Given the description of an element on the screen output the (x, y) to click on. 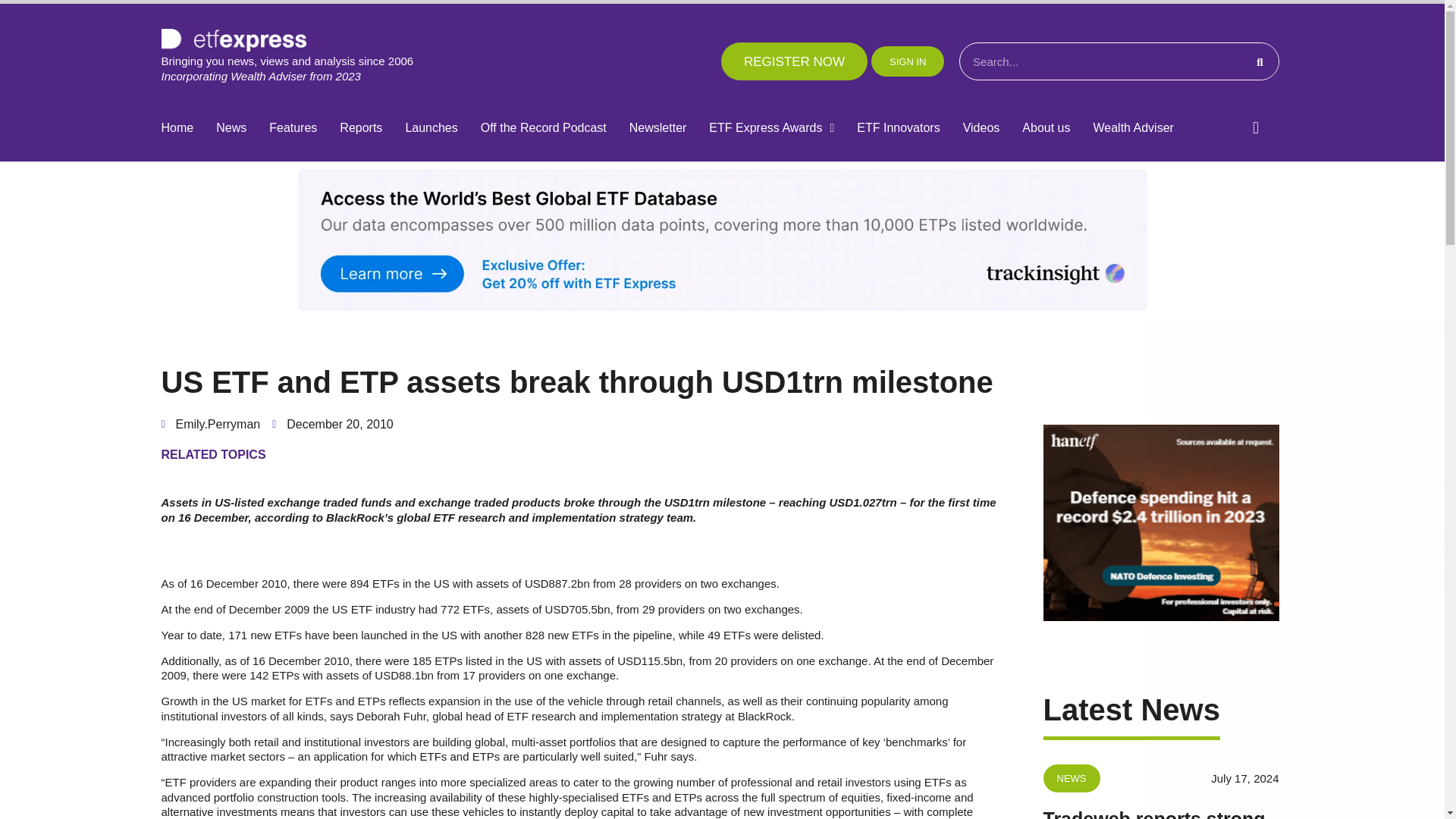
SIGN IN (906, 60)
REGISTER NOW (793, 61)
Features (293, 128)
